Given the description of an element on the screen output the (x, y) to click on. 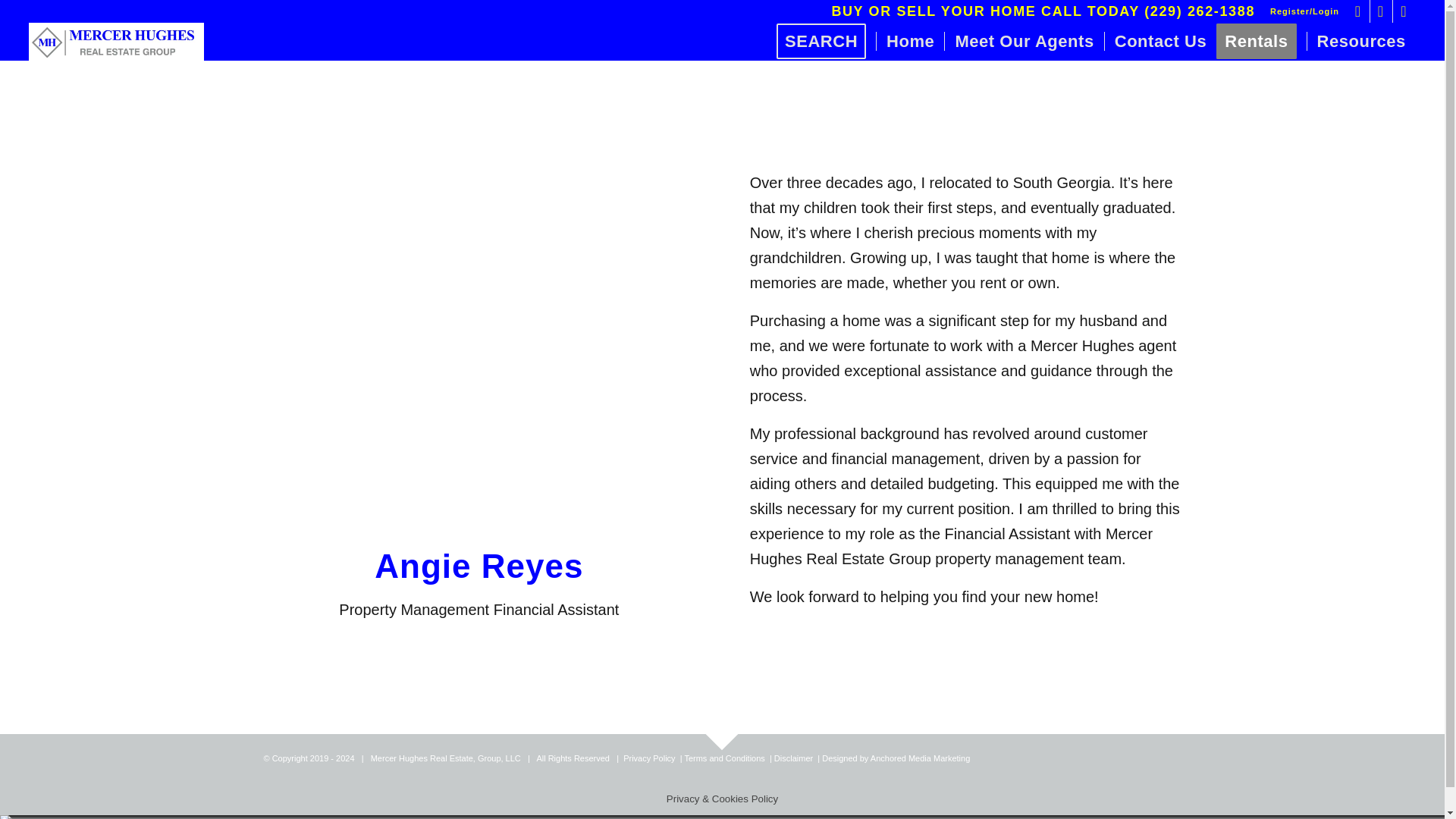
Rentals (1260, 41)
Disclaimer (793, 757)
Home (909, 41)
Contact Us (1160, 41)
X (1404, 11)
Resources (1360, 41)
Meet Our Agents (1023, 41)
Instagram (1380, 11)
mercer-hughes-real-estate-group-valdosta (116, 41)
Facebook (1359, 11)
Terms and Conditions (724, 757)
Anchored Media Marketing (919, 757)
Privacy Policy (649, 757)
SEARCH (826, 41)
